Given the description of an element on the screen output the (x, y) to click on. 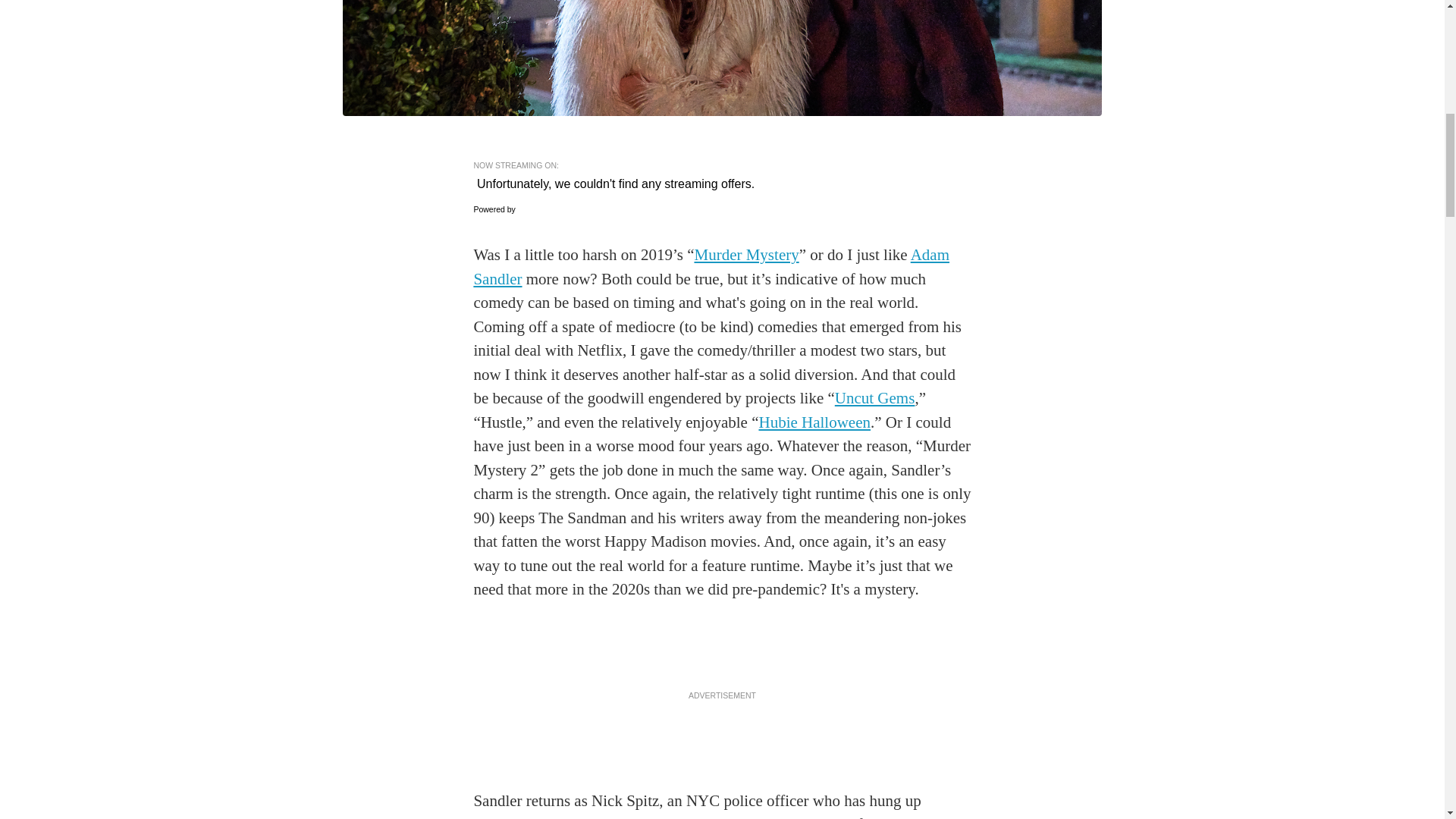
Powered by JustWatch (520, 208)
Murder Mystery (745, 254)
Uncut Gems (874, 398)
Hubie Halloween (814, 422)
Adam Sandler (711, 266)
